Given the description of an element on the screen output the (x, y) to click on. 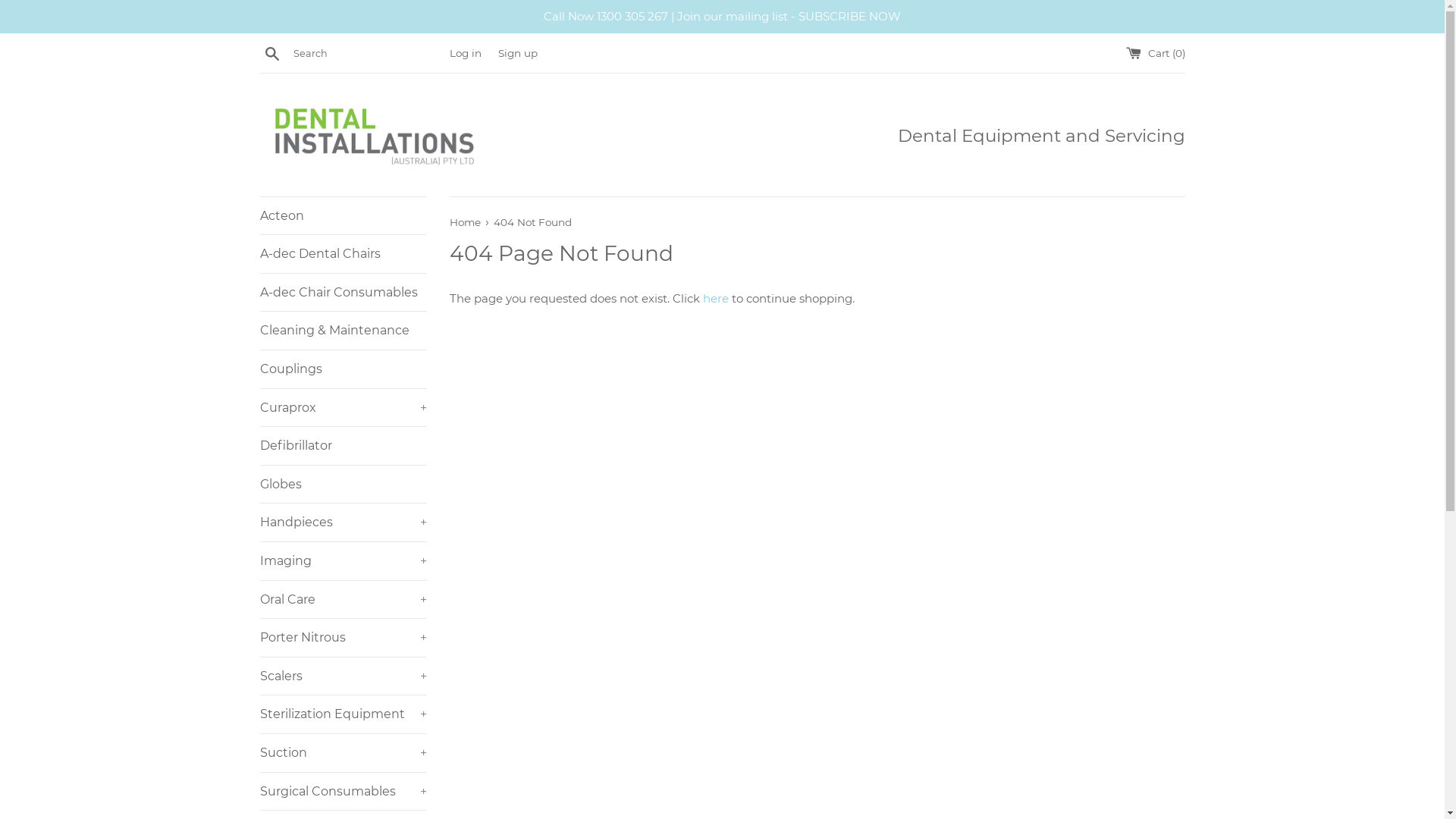
Couplings Element type: text (342, 369)
Scalers
+ Element type: text (342, 676)
Cleaning & Maintenance Element type: text (342, 330)
Porter Nitrous
+ Element type: text (342, 637)
A-dec Chair Consumables Element type: text (342, 292)
Surgical Consumables
+ Element type: text (342, 791)
Oral Care
+ Element type: text (342, 599)
Curaprox
+ Element type: text (342, 407)
Cart (0) Element type: text (1154, 53)
A-dec Dental Chairs Element type: text (342, 254)
Sterilization Equipment
+ Element type: text (342, 714)
Home Element type: text (465, 222)
Globes Element type: text (342, 484)
here Element type: text (715, 298)
Log in Element type: text (464, 53)
Handpieces
+ Element type: text (342, 522)
Defibrillator Element type: text (342, 445)
Sign up Element type: text (516, 53)
Search Element type: text (271, 52)
Acteon Element type: text (342, 216)
Imaging
+ Element type: text (342, 561)
Suction
+ Element type: text (342, 752)
